Given the description of an element on the screen output the (x, y) to click on. 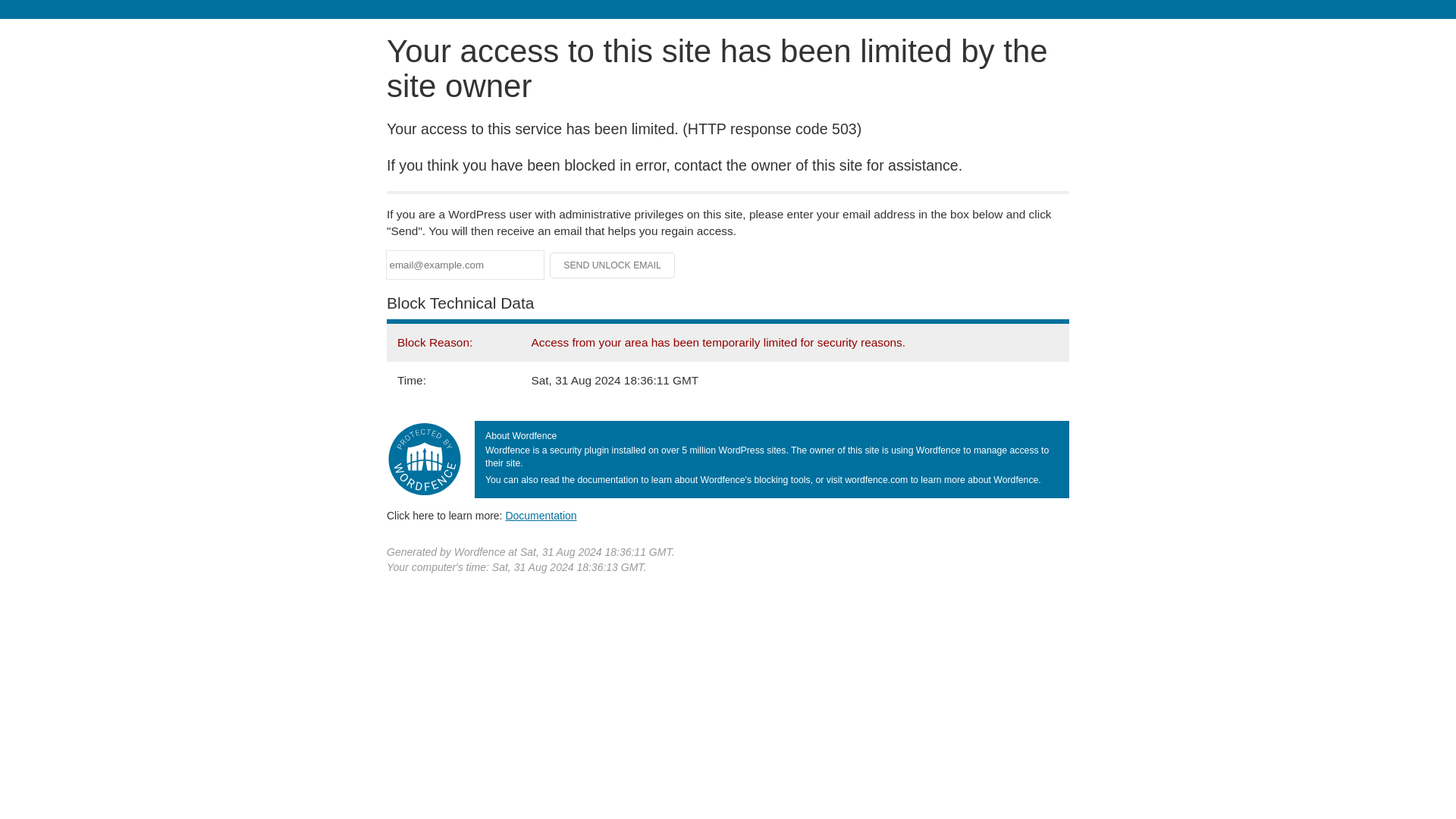
Send Unlock Email (612, 265)
Send Unlock Email (612, 265)
Documentation (540, 515)
